Given the description of an element on the screen output the (x, y) to click on. 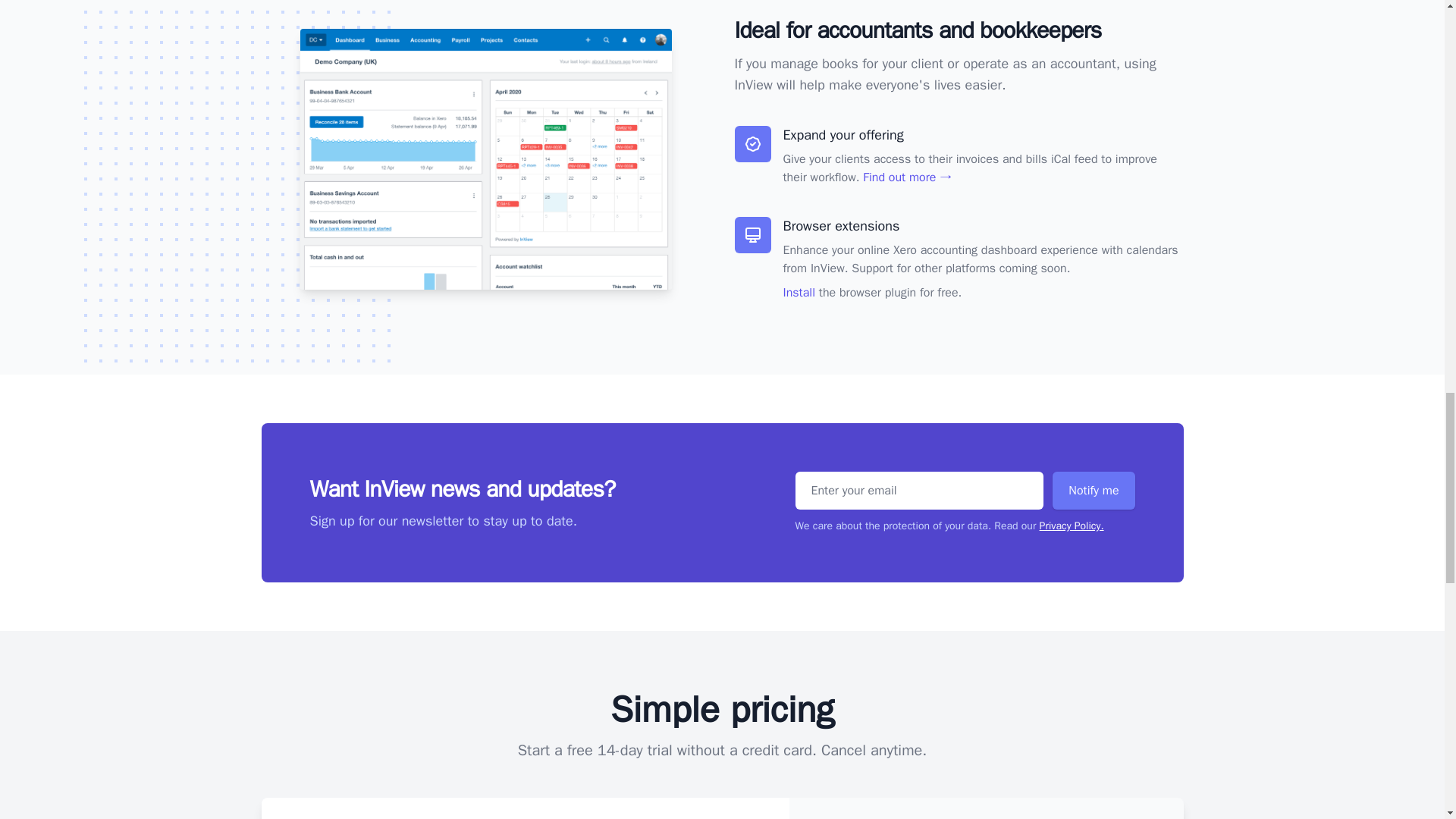
Install (798, 292)
Notify me (1093, 490)
Notify me (1093, 490)
Privacy Policy. (1071, 525)
